Given the description of an element on the screen output the (x, y) to click on. 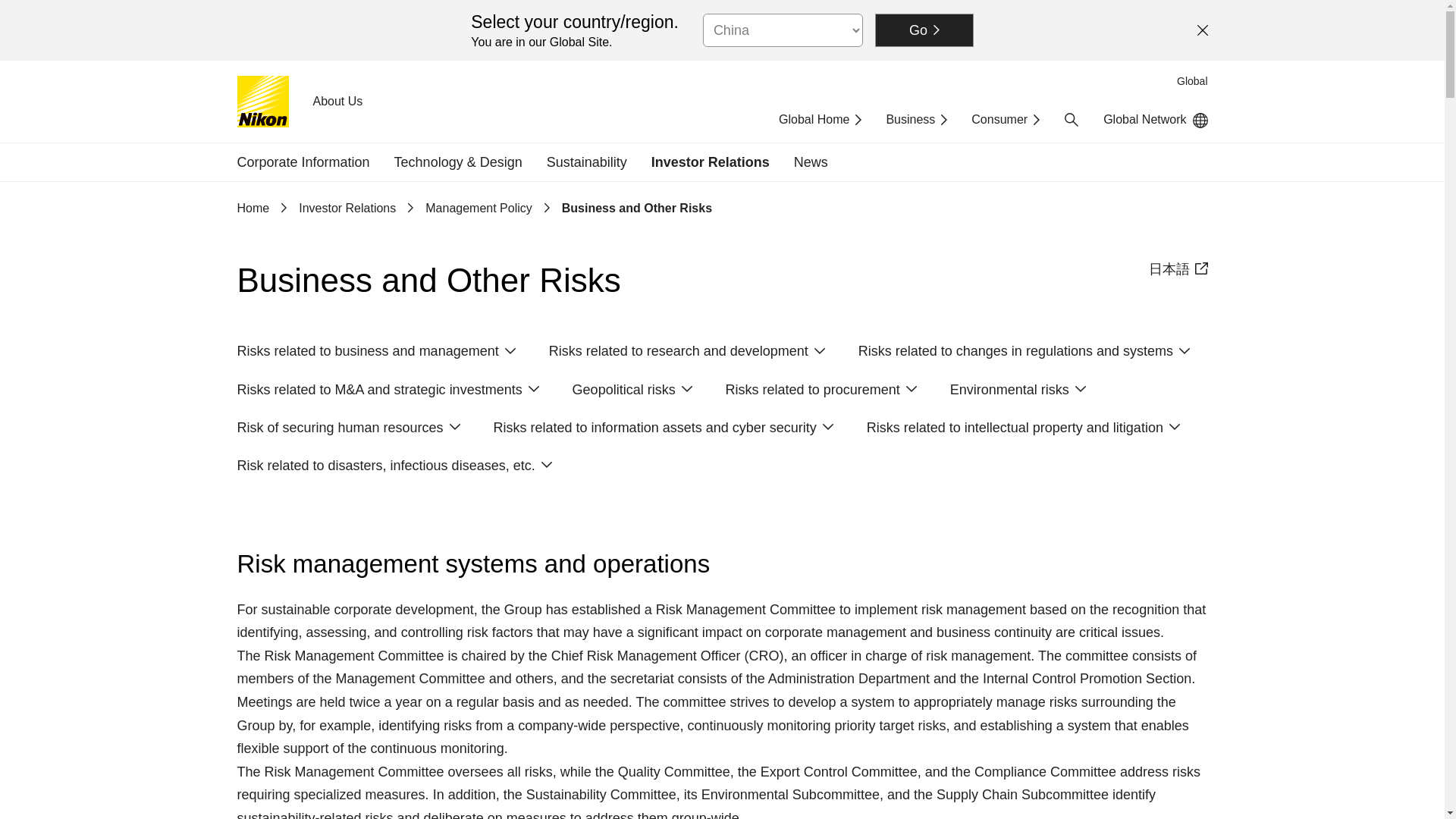
Corporate Information (302, 162)
Consumer (1005, 119)
Search (1071, 119)
Sustainability (587, 162)
Business (916, 119)
Global Network (1155, 119)
Close (1203, 29)
Global Home (819, 119)
Go (924, 29)
